Given the description of an element on the screen output the (x, y) to click on. 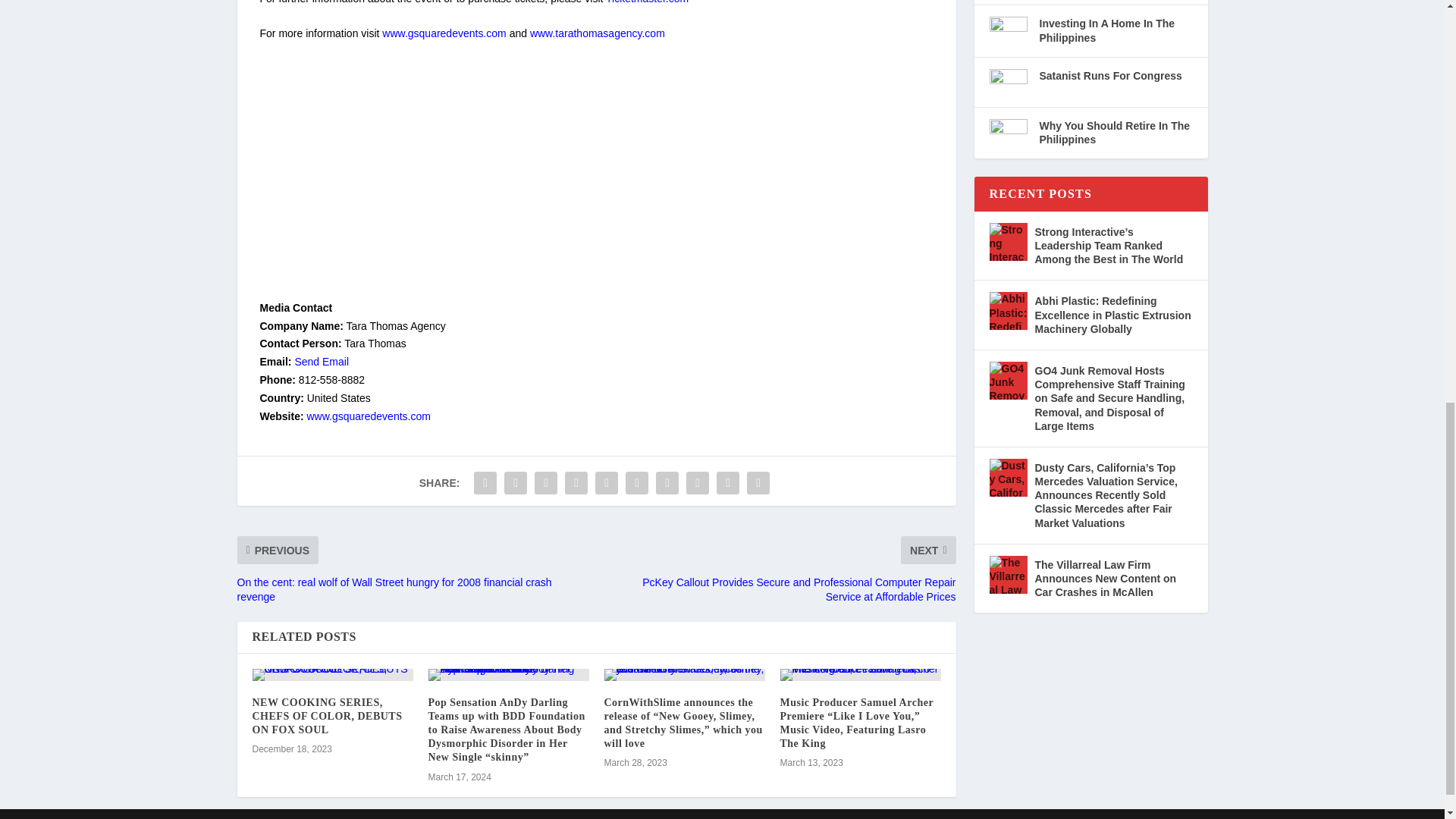
NEW COOKING SERIES, CHEFS OF COLOR, DEBUTS ON FOX SOUL (326, 715)
www.tarathomasagency.com (597, 33)
www.gsquaredevents.com (367, 416)
www.gsquaredevents.com (443, 33)
NEW COOKING SERIES, CHEFS OF COLOR, DEBUTS ON FOX SOUL (331, 674)
Ticketmaster.com (646, 2)
Send Email (321, 361)
